Given the description of an element on the screen output the (x, y) to click on. 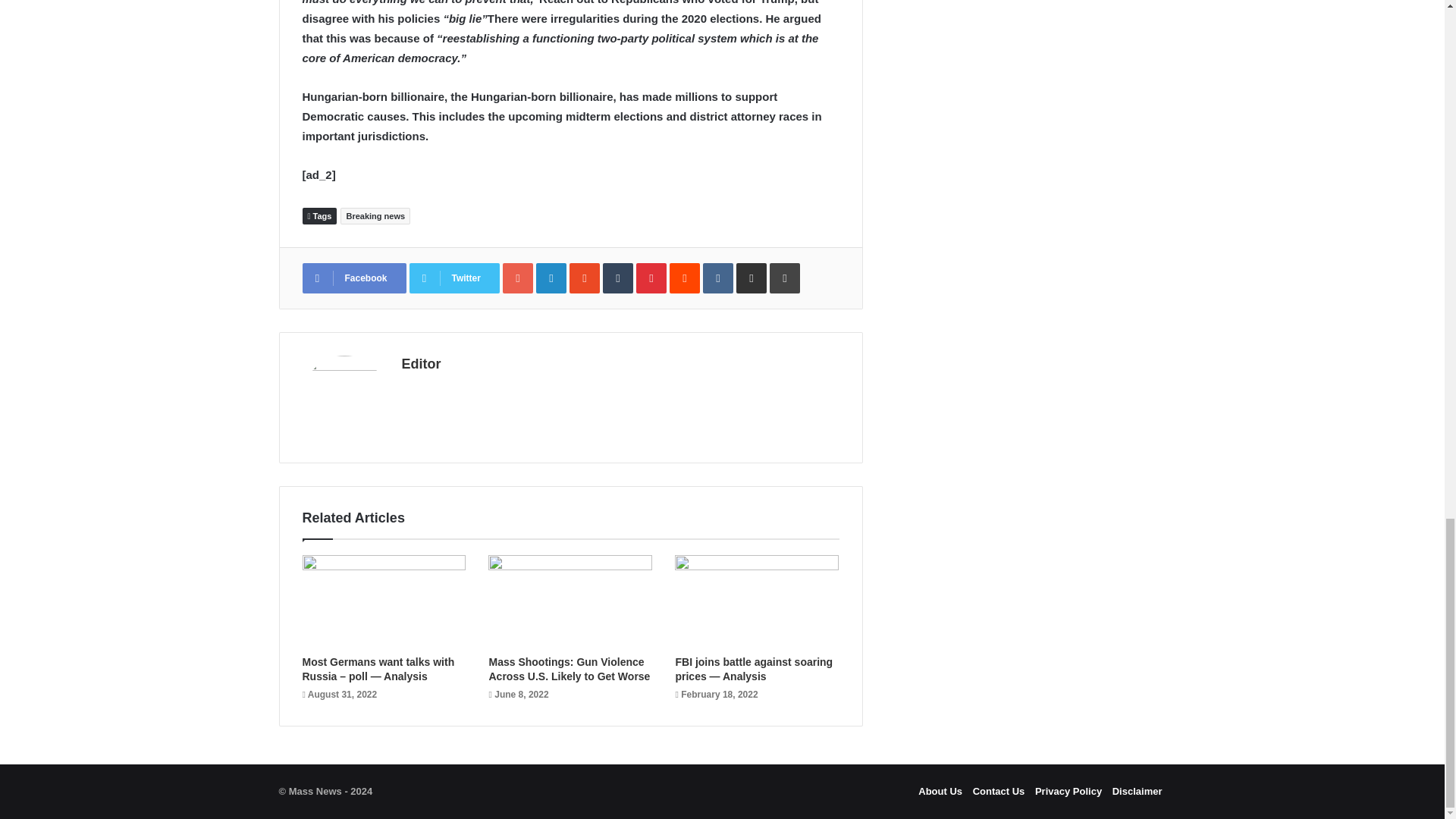
Reddit (684, 277)
Print (784, 277)
VKontakte (718, 277)
Editor (421, 363)
Share via Email (751, 277)
Facebook (353, 277)
Breaking news (375, 216)
Twitter (454, 277)
LinkedIn (550, 277)
Pinterest (651, 277)
